Given the description of an element on the screen output the (x, y) to click on. 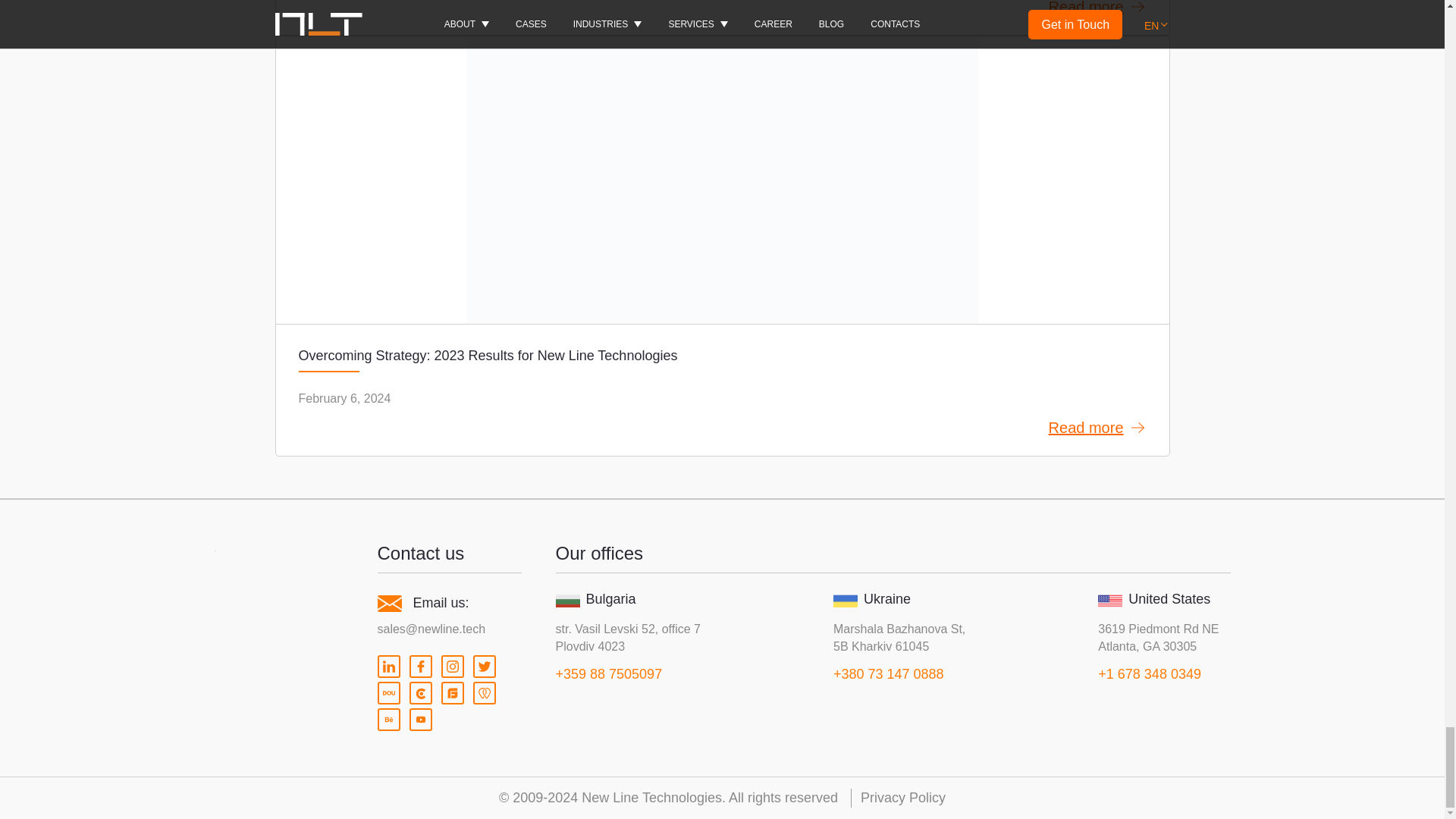
LinkedIn (388, 666)
Twitter (484, 666)
Facebook (420, 666)
Instagram (452, 666)
